Given the description of an element on the screen output the (x, y) to click on. 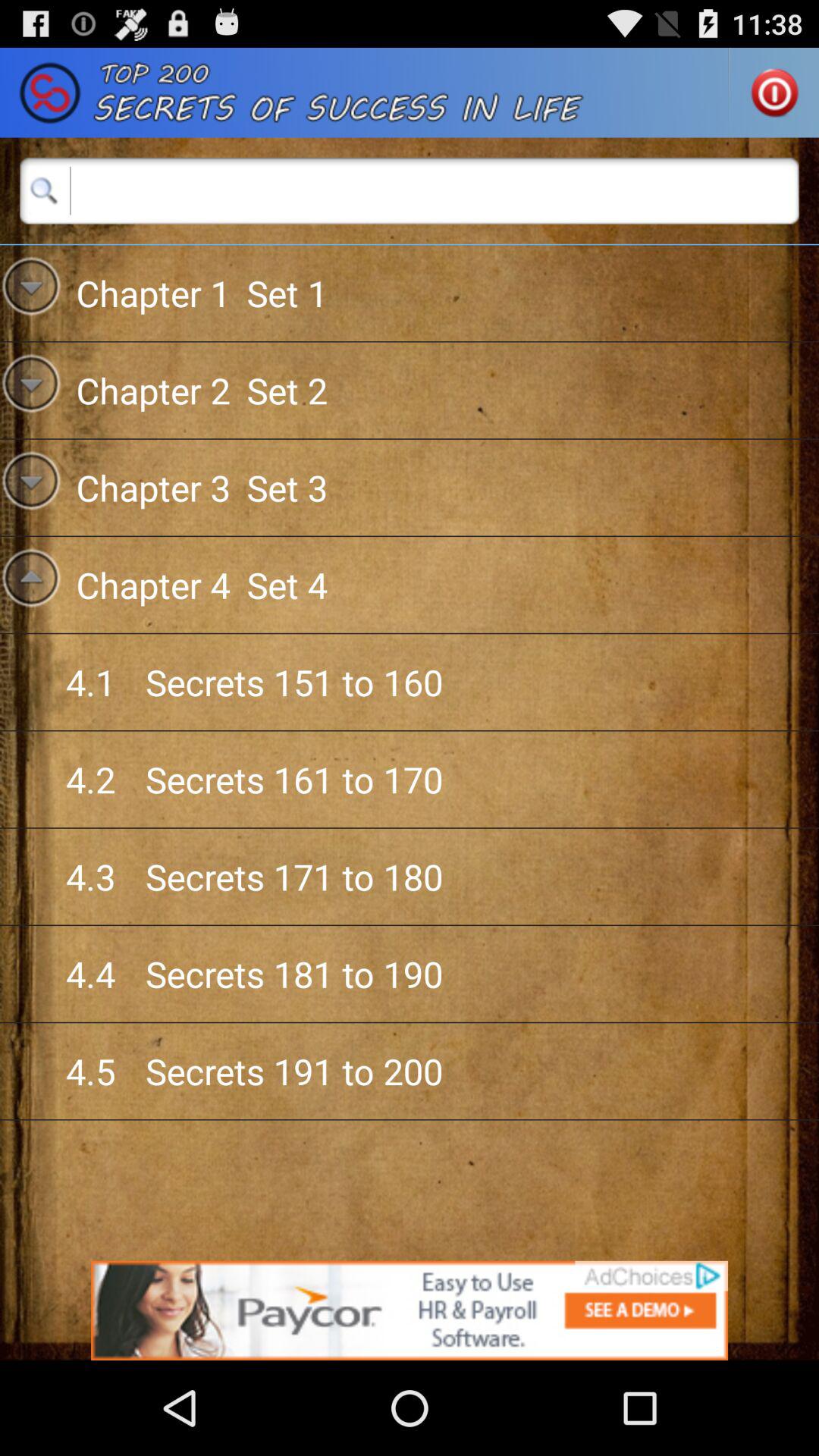
enter to search (409, 190)
